Given the description of an element on the screen output the (x, y) to click on. 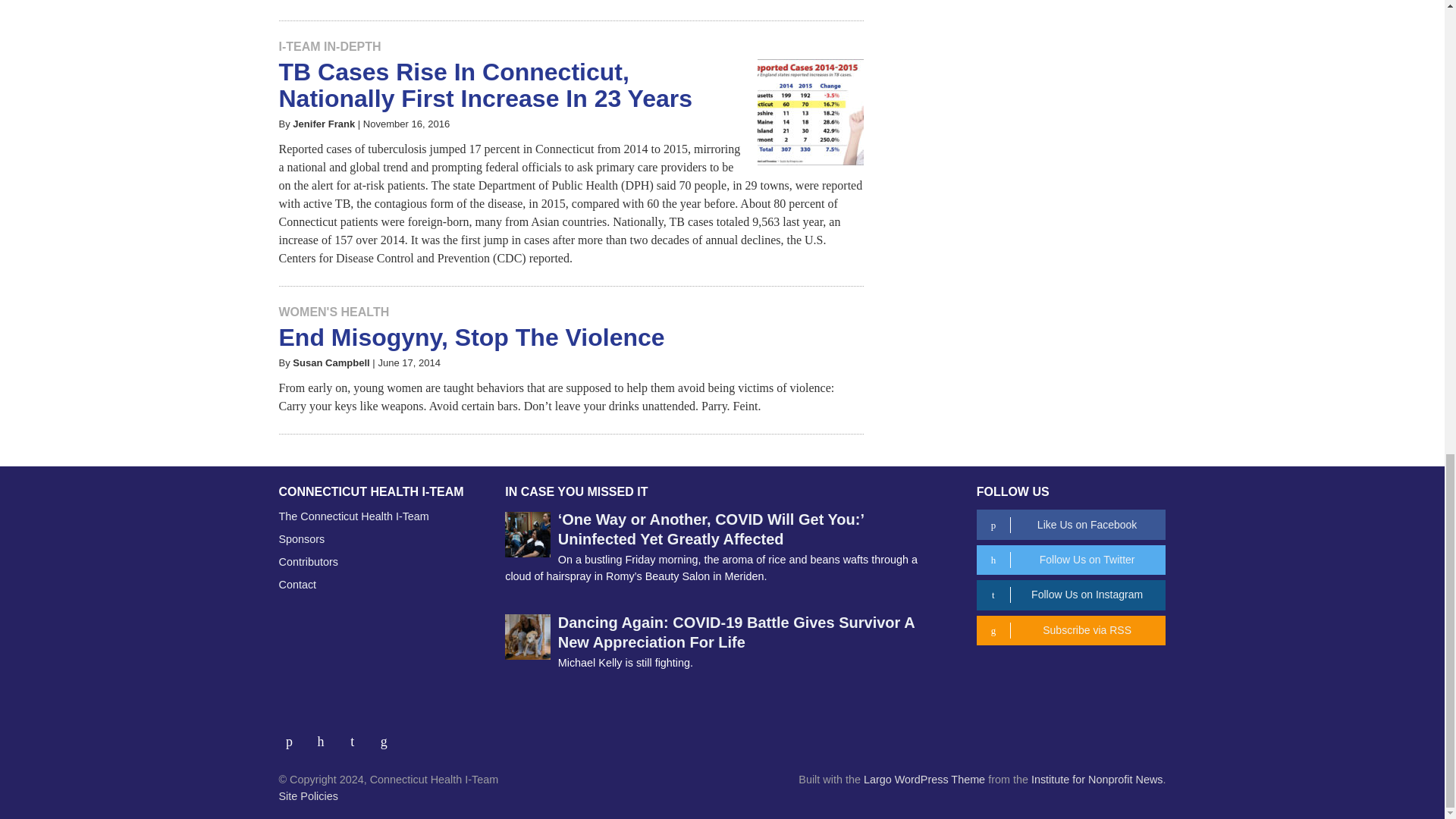
More from Jenifer Frank (323, 123)
Read Stories in the Women's Health category (334, 311)
Read Stories in the I-Team In-Depth category (330, 46)
Permalink to End Misogyny, Stop The Violence (472, 337)
